Given the description of an element on the screen output the (x, y) to click on. 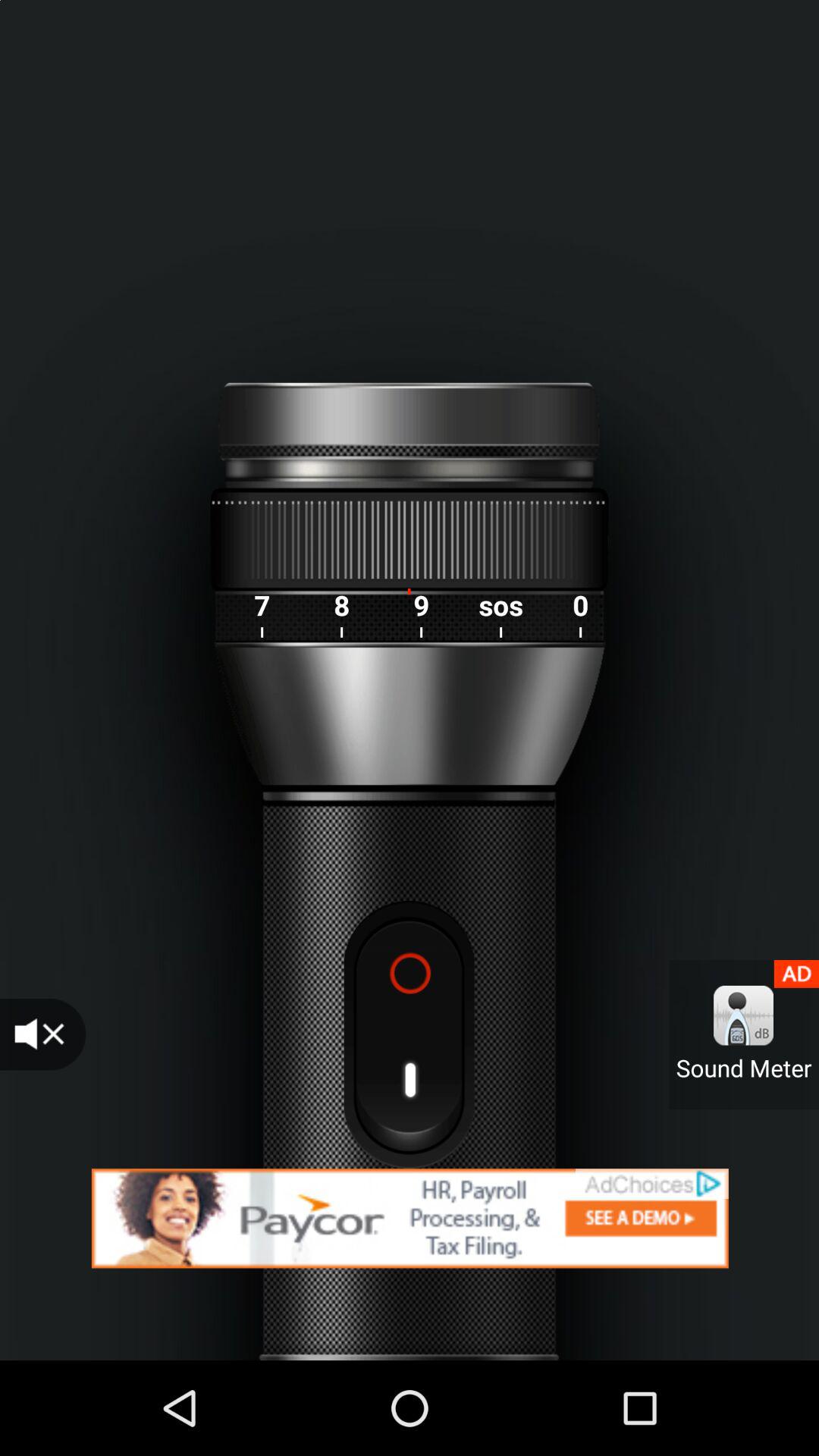
share the article (409, 1218)
